Given the description of an element on the screen output the (x, y) to click on. 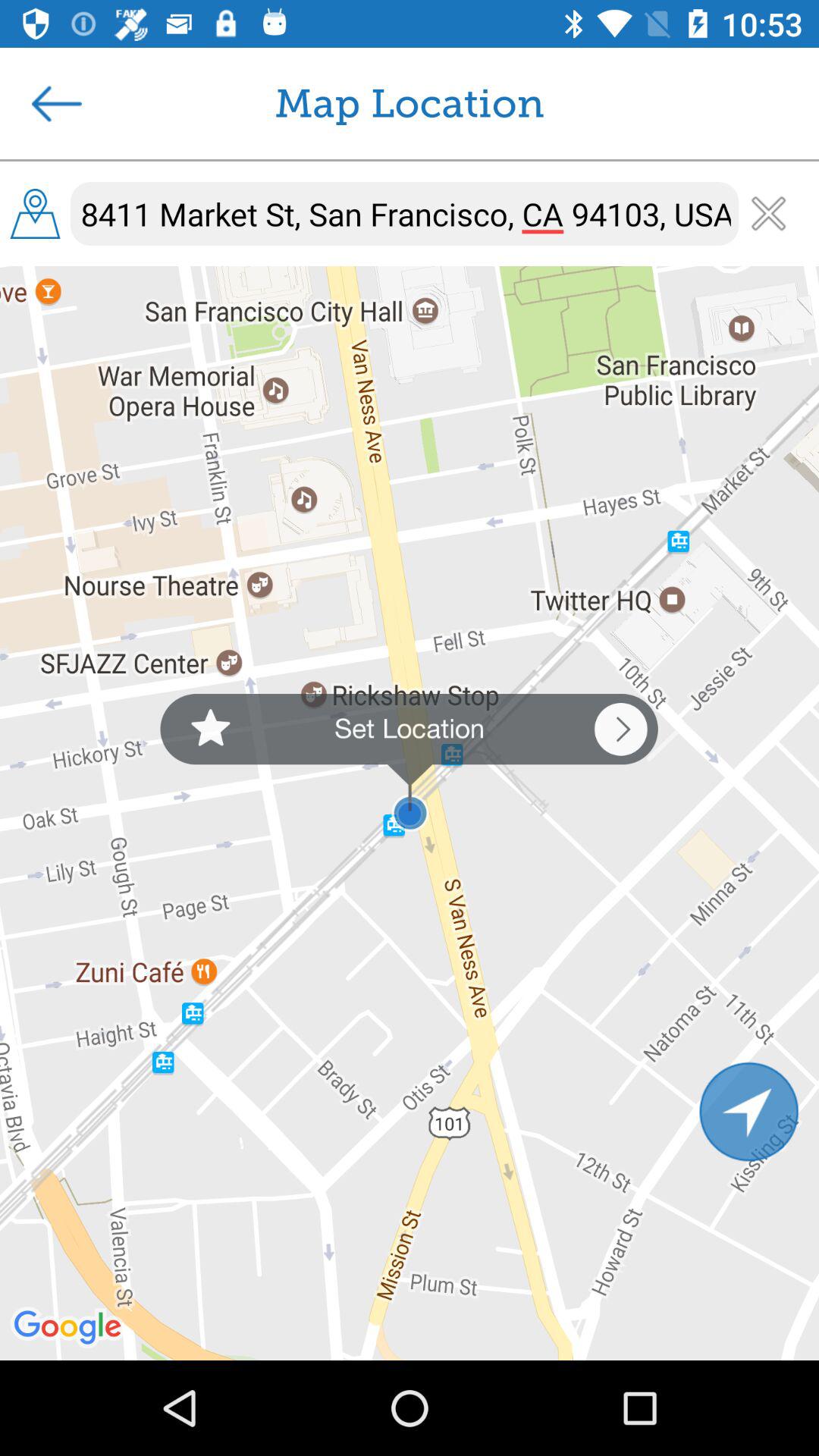
jump to the 8411 market st icon (404, 213)
